Given the description of an element on the screen output the (x, y) to click on. 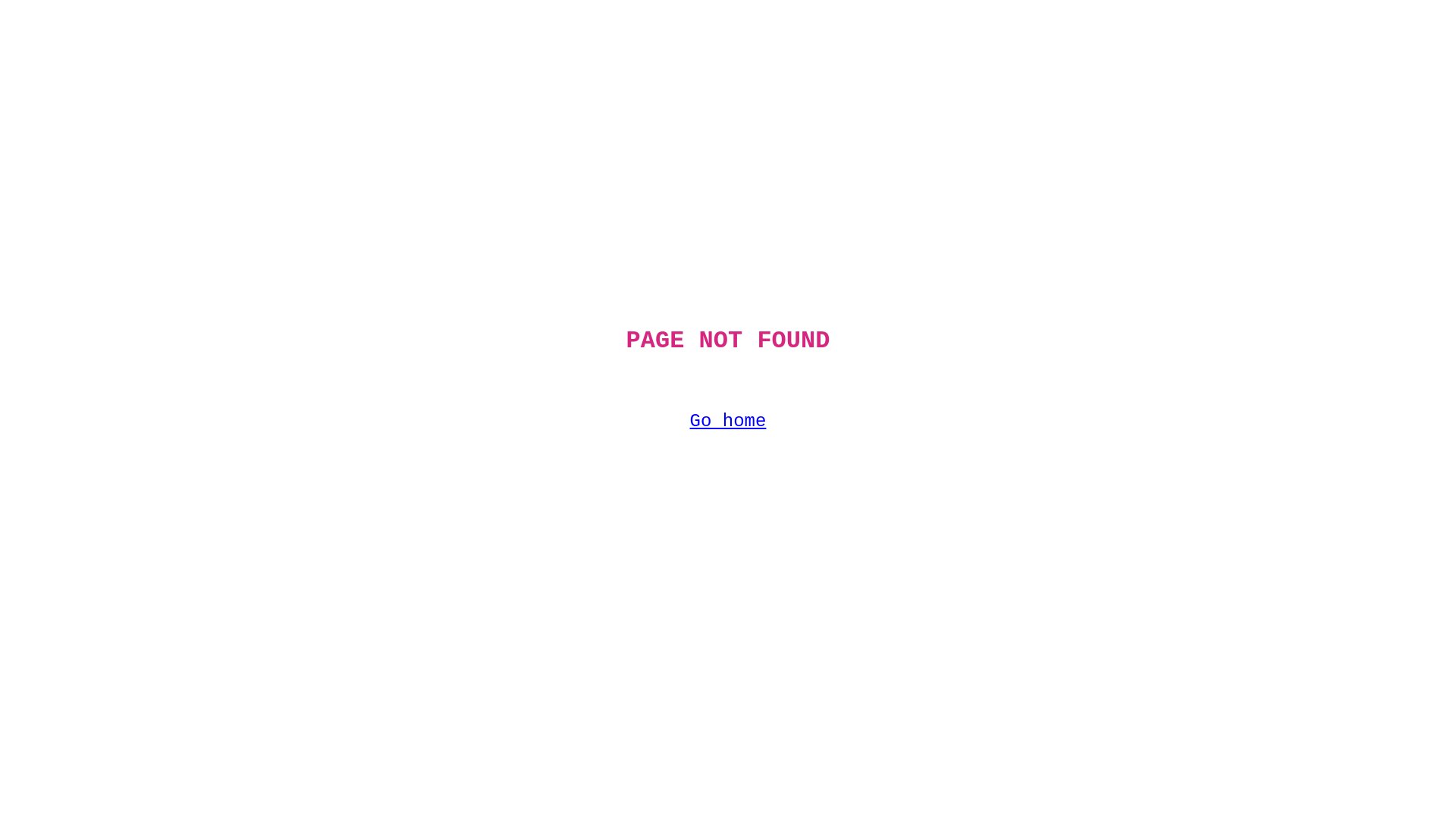
Go home Element type: text (728, 421)
